Given the description of an element on the screen output the (x, y) to click on. 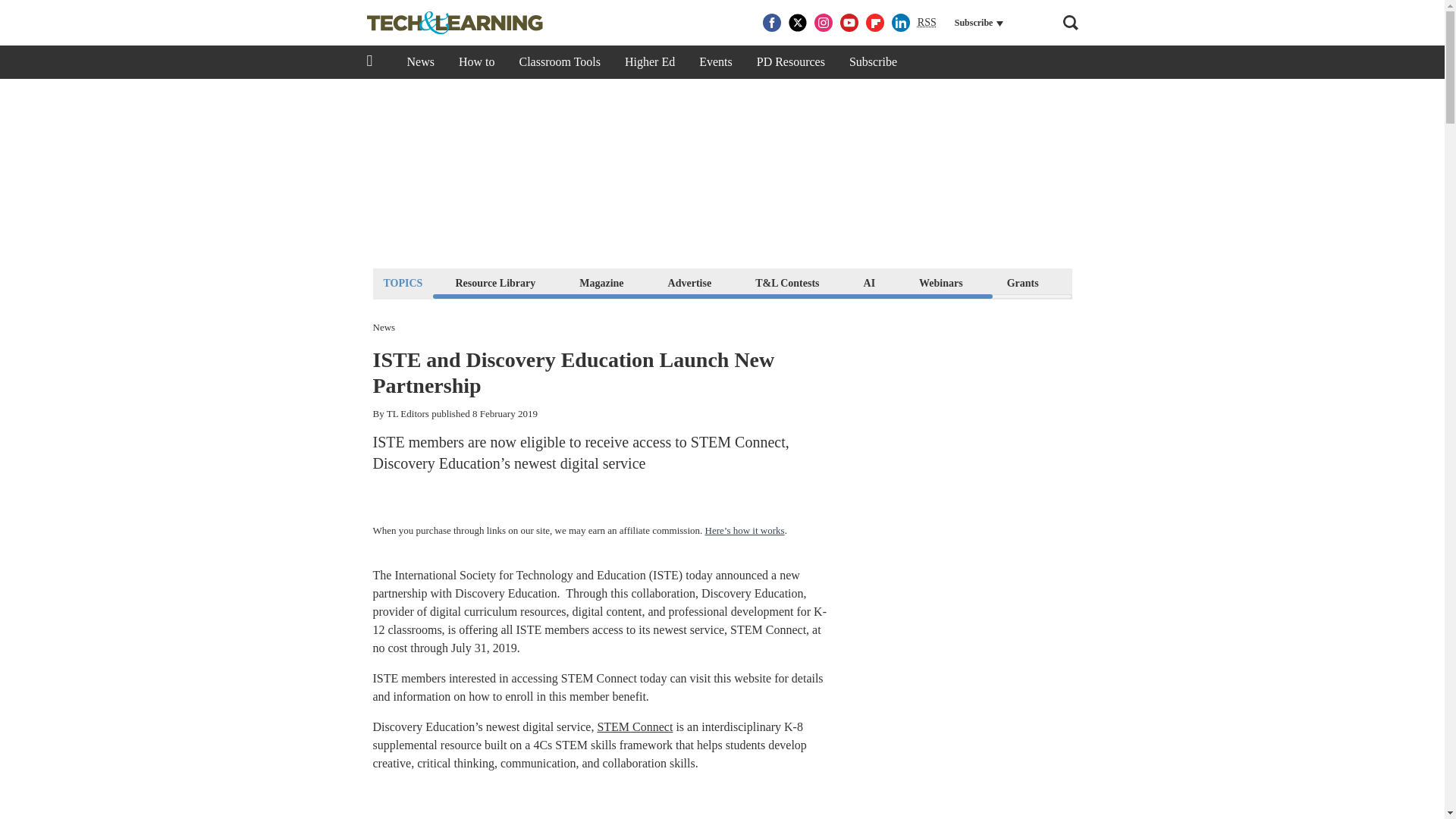
AI (869, 282)
TL Editors (408, 413)
Discovery Education (505, 593)
Webinars (941, 282)
Events (715, 61)
STEM Connect (634, 726)
Magazine (600, 282)
Higher Ed (649, 61)
International Society for Technology and Education (519, 574)
this website (740, 677)
